Given the description of an element on the screen output the (x, y) to click on. 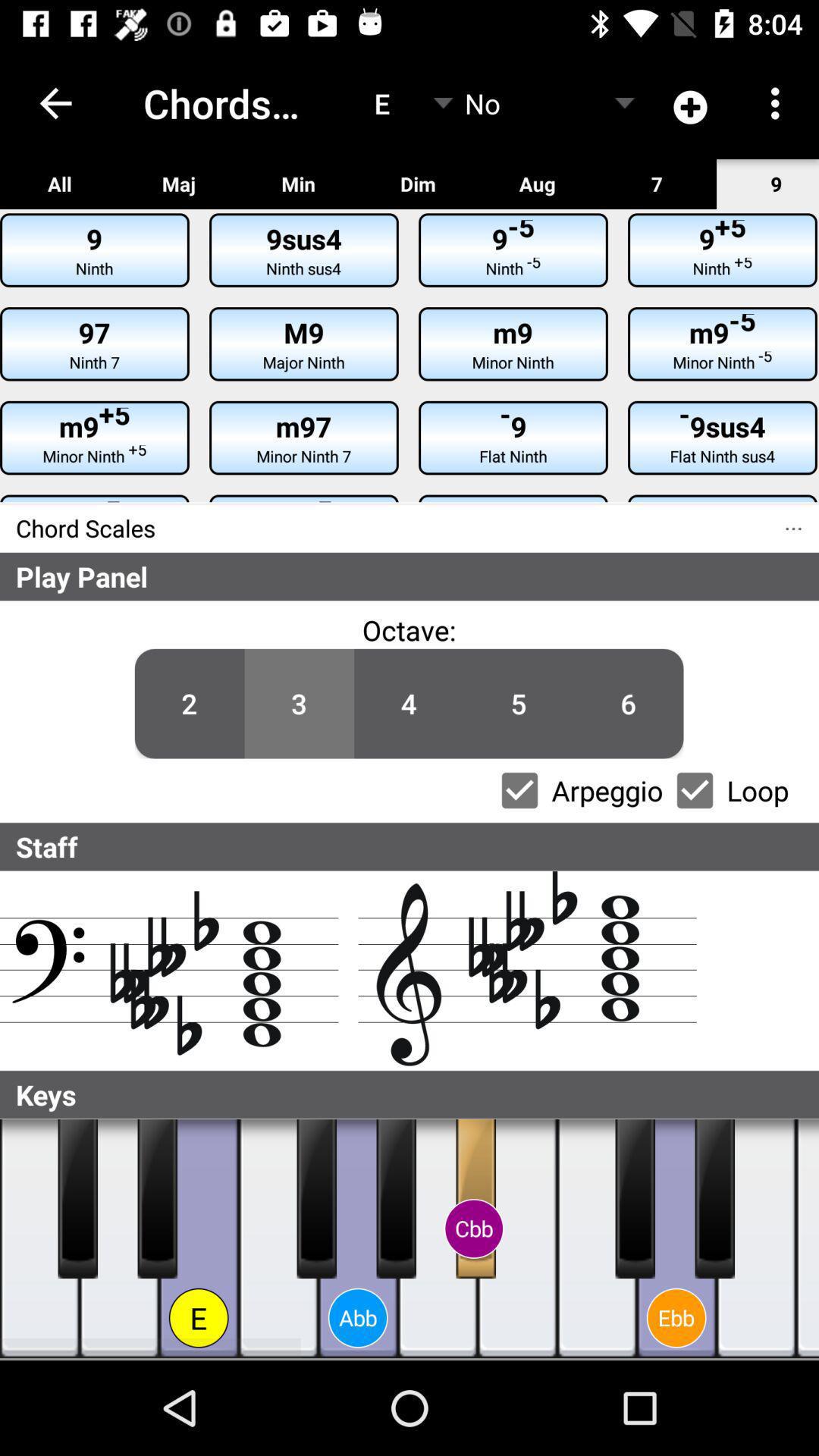
click the item next to the loop item (694, 790)
